Given the description of an element on the screen output the (x, y) to click on. 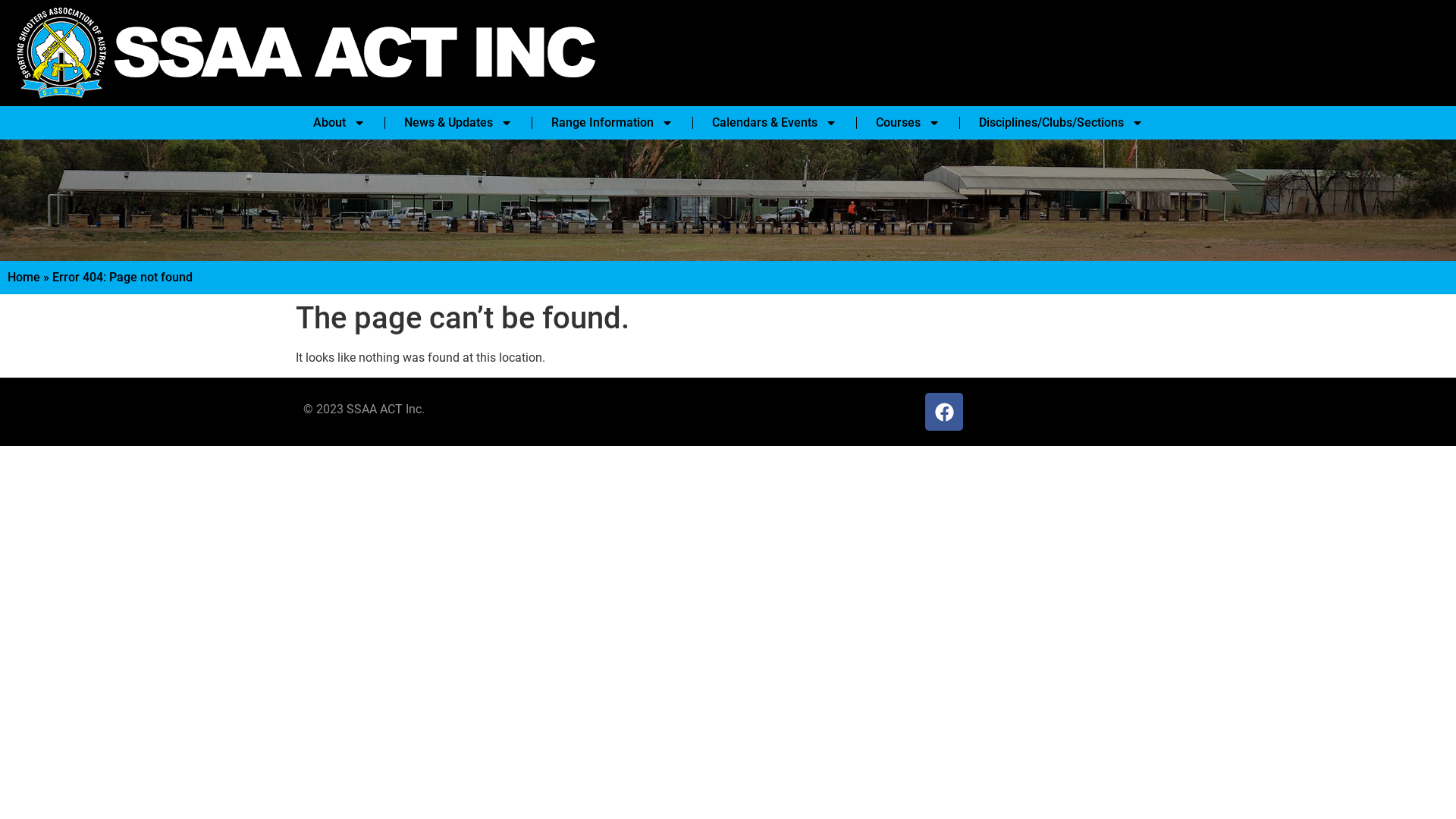
About Element type: text (338, 122)
Courses Element type: text (906, 122)
Range Information Element type: text (611, 122)
Home Element type: text (23, 276)
Calendars & Events Element type: text (773, 122)
Disciplines/Clubs/Sections Element type: text (1060, 122)
News & Updates Element type: text (457, 122)
